Given the description of an element on the screen output the (x, y) to click on. 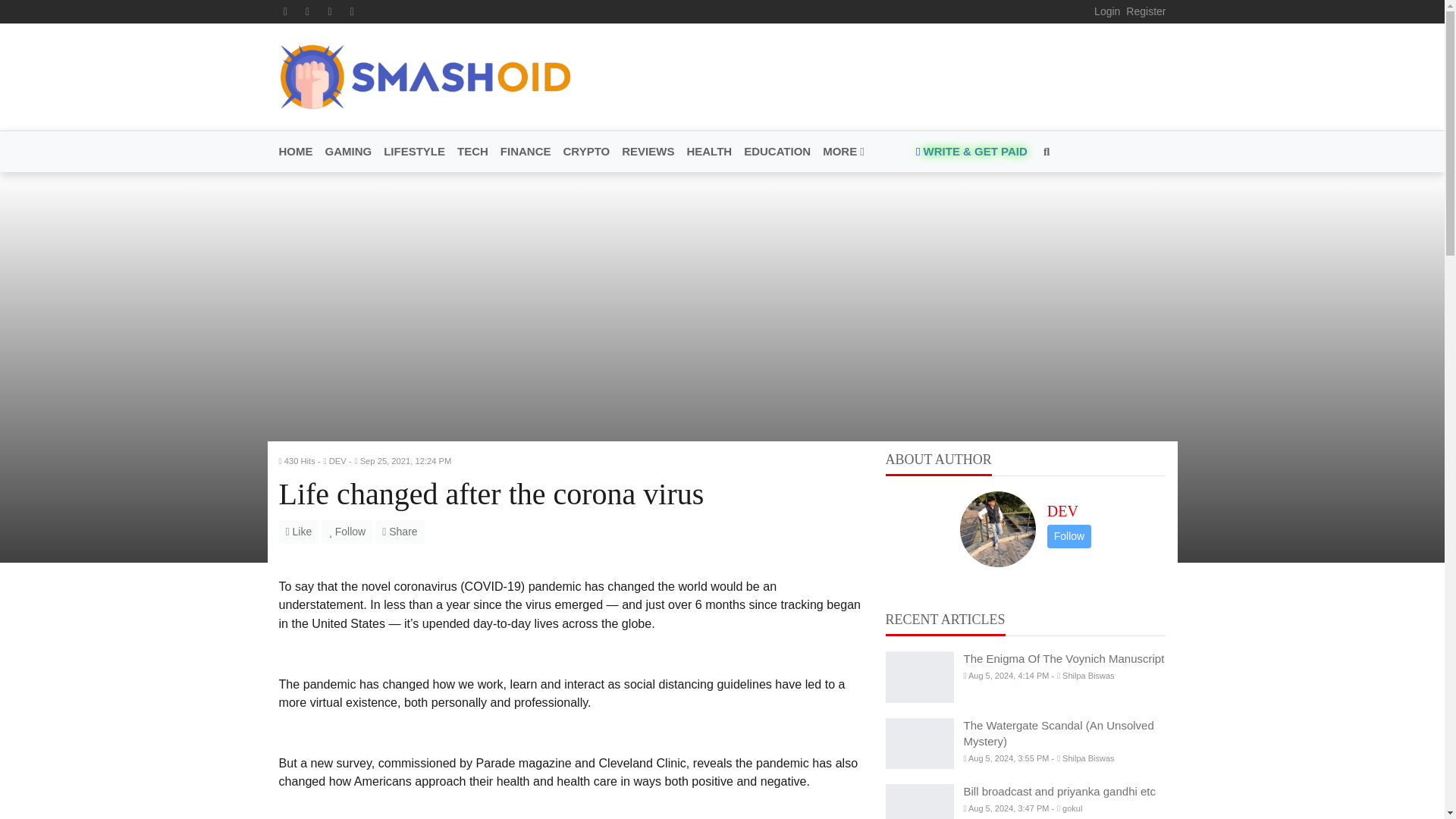
Author (336, 461)
The Enigma Of The Voynich Manuscript (919, 676)
HEALTH (708, 152)
MORE (840, 152)
TECH (473, 152)
CRYPTO (586, 152)
Views (299, 461)
Pinterest (329, 11)
GAMING (347, 152)
Register (1145, 10)
